Given the description of an element on the screen output the (x, y) to click on. 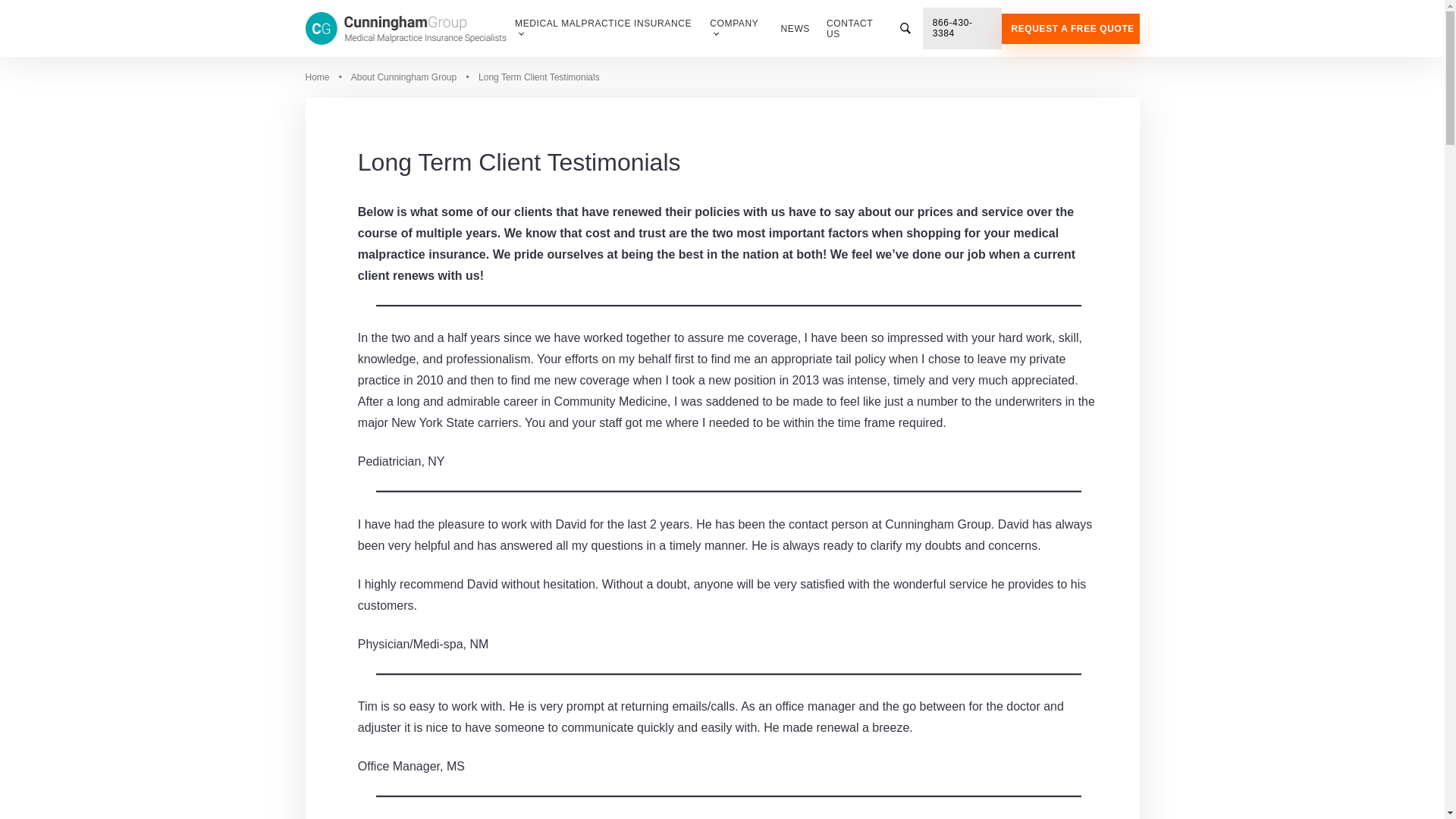
MEDICAL MALPRACTICE INSURANCE (603, 28)
CONTACT US (856, 28)
NEWS (795, 27)
COMPANY (736, 28)
